Given the description of an element on the screen output the (x, y) to click on. 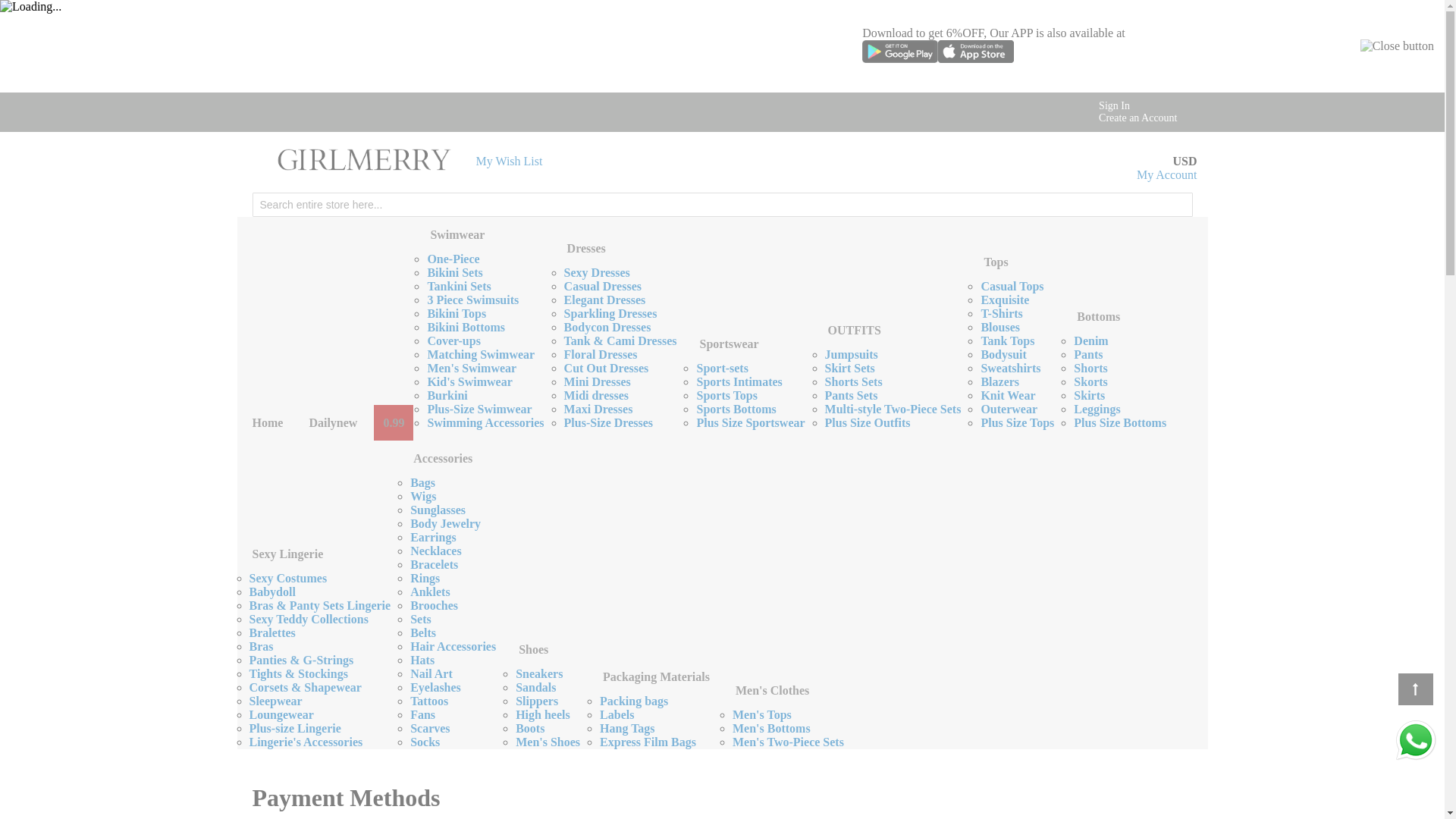
Swimwear (456, 234)
Bikini Bottoms (465, 327)
Cover-ups (453, 340)
Wholesale lingerie,sexy costumes,sexy lingerie (363, 159)
Bikini Sets (453, 272)
One-Piece (452, 258)
My Account (1166, 174)
My Wish List (509, 160)
Tankini Sets (458, 286)
Home (267, 422)
My Account (1166, 174)
My Wish List (509, 160)
Top (1414, 689)
Wholesale lingerie,sexy costumes,sexy lingerie (363, 160)
